Given the description of an element on the screen output the (x, y) to click on. 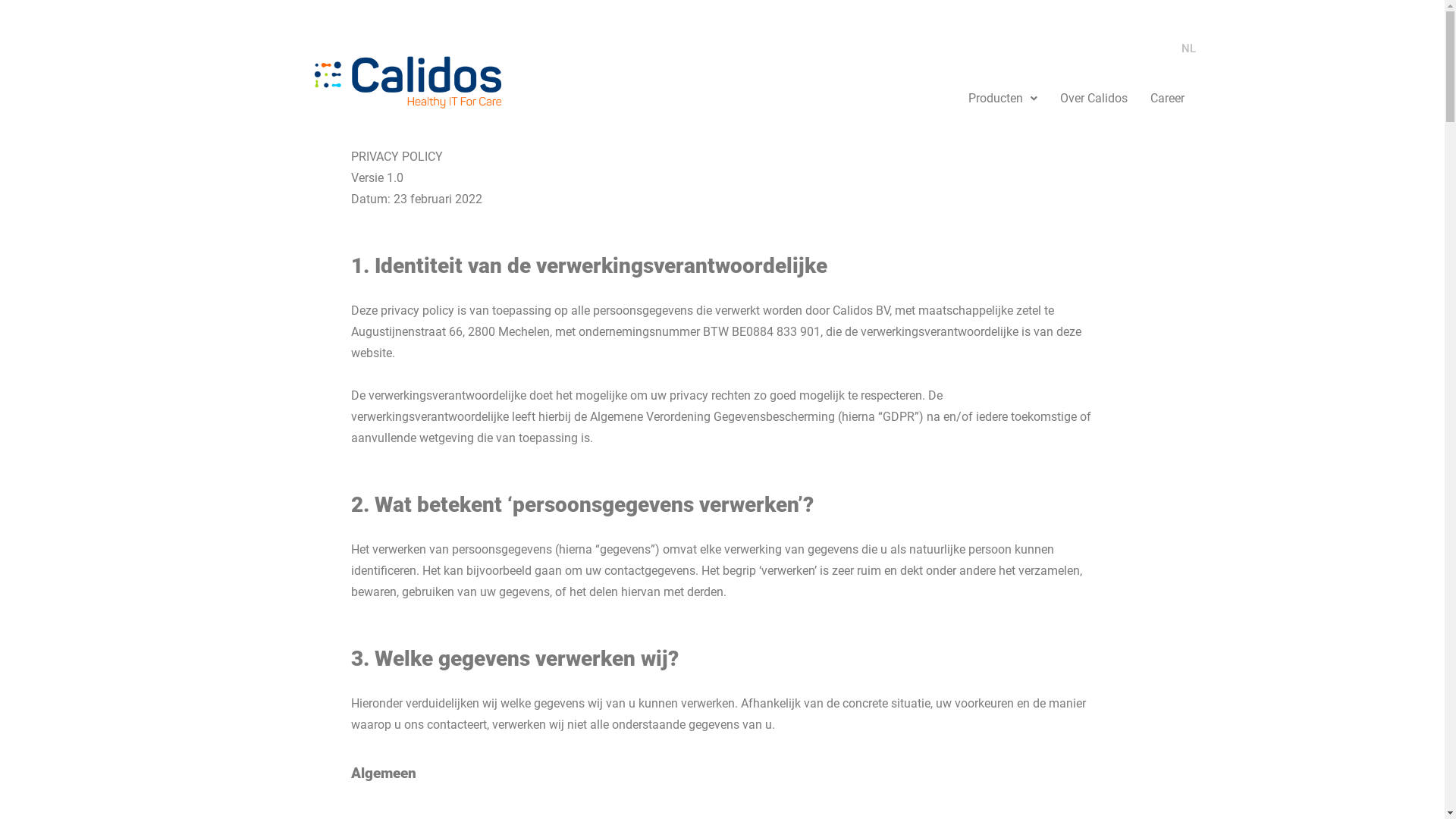
Career Element type: text (1167, 98)
Producten Element type: text (1002, 98)
Over Calidos Element type: text (1093, 98)
NL Element type: text (1188, 48)
